Given the description of an element on the screen output the (x, y) to click on. 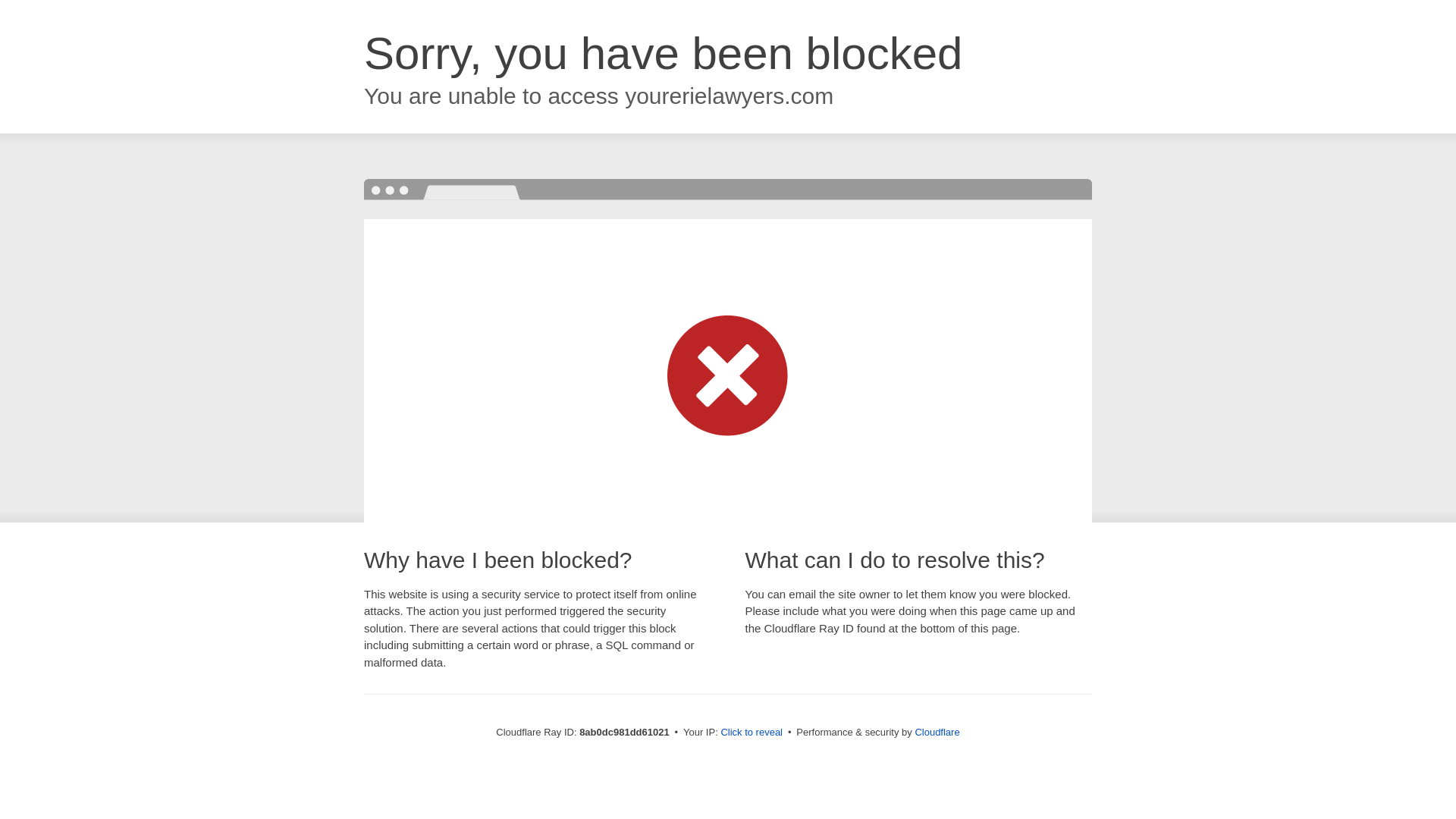
Click to reveal (751, 732)
Cloudflare (936, 731)
